Given the description of an element on the screen output the (x, y) to click on. 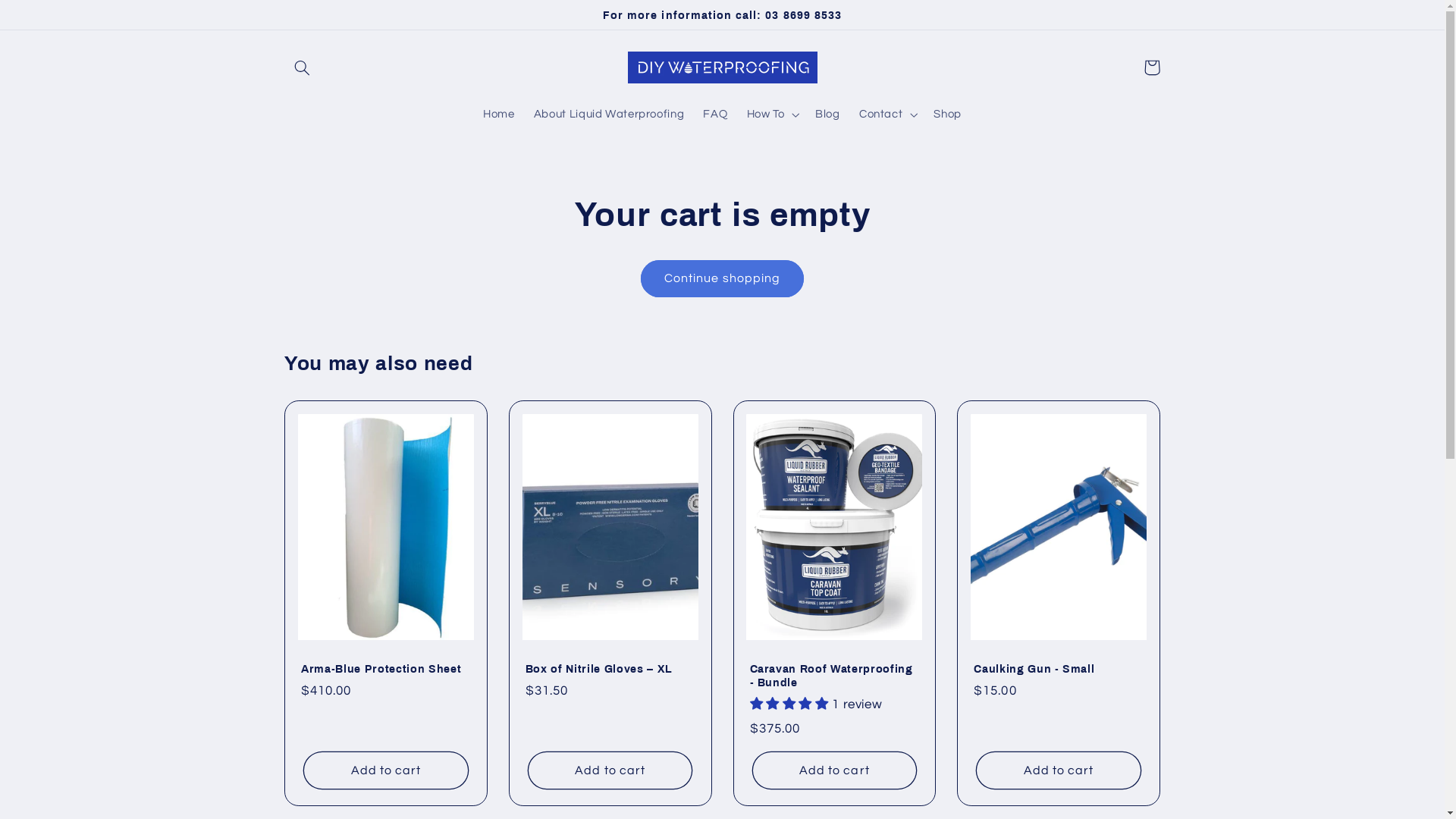
Add to cart Element type: text (609, 769)
Add to cart Element type: text (385, 769)
Continue shopping Element type: text (722, 278)
Arma-Blue Protection Sheet Element type: text (385, 668)
Cart Element type: text (1151, 67)
Shop Element type: text (947, 114)
Add to cart Element type: text (1057, 769)
About Liquid Waterproofing Element type: text (608, 114)
Caulking Gun - Small Element type: text (1058, 668)
Home Element type: text (498, 114)
FAQ Element type: text (715, 114)
Caravan Roof Waterproofing - Bundle Element type: text (834, 676)
Add to cart Element type: text (834, 769)
Blog Element type: text (828, 114)
